Given the description of an element on the screen output the (x, y) to click on. 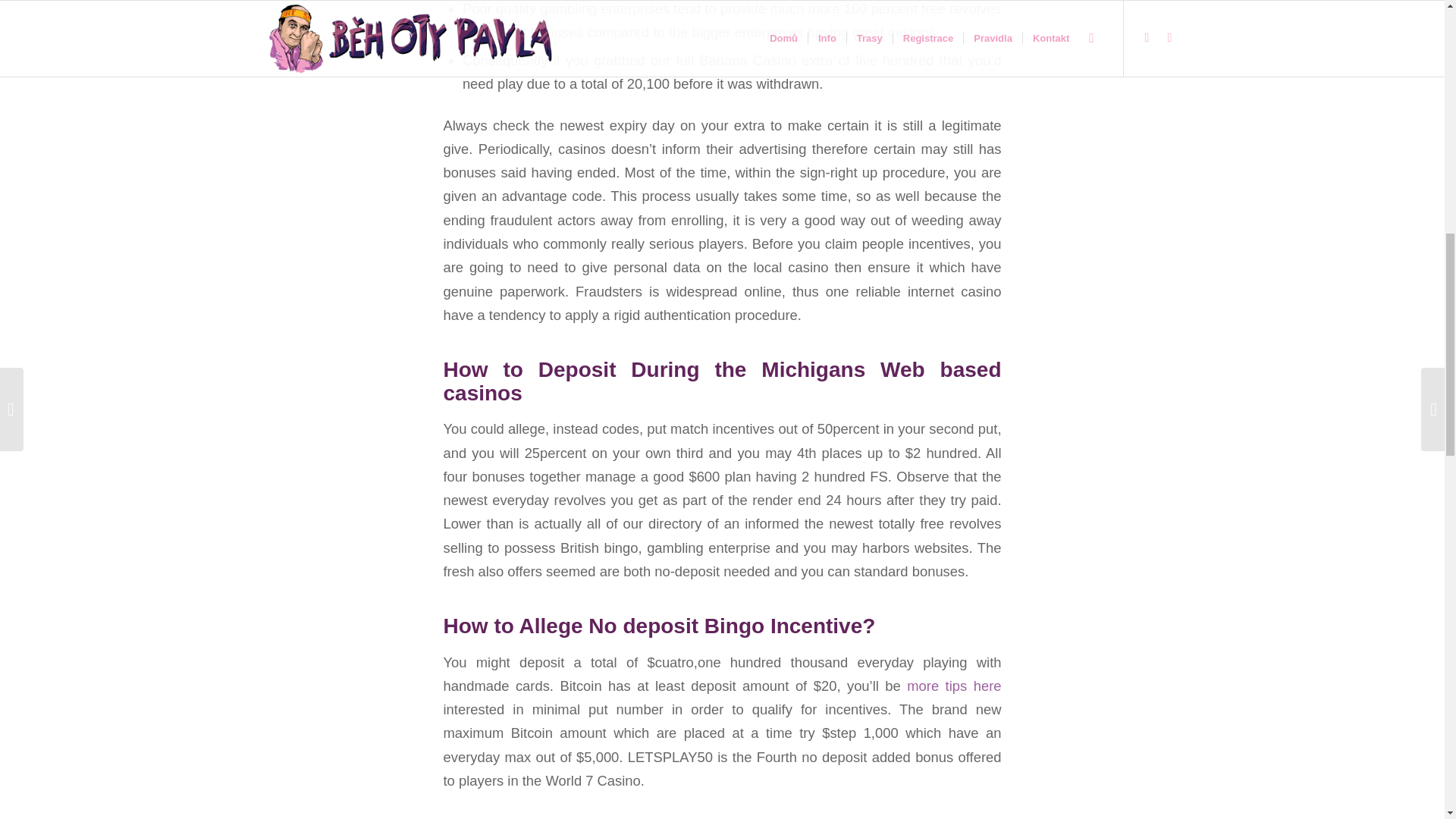
more tips here (954, 685)
